Given the description of an element on the screen output the (x, y) to click on. 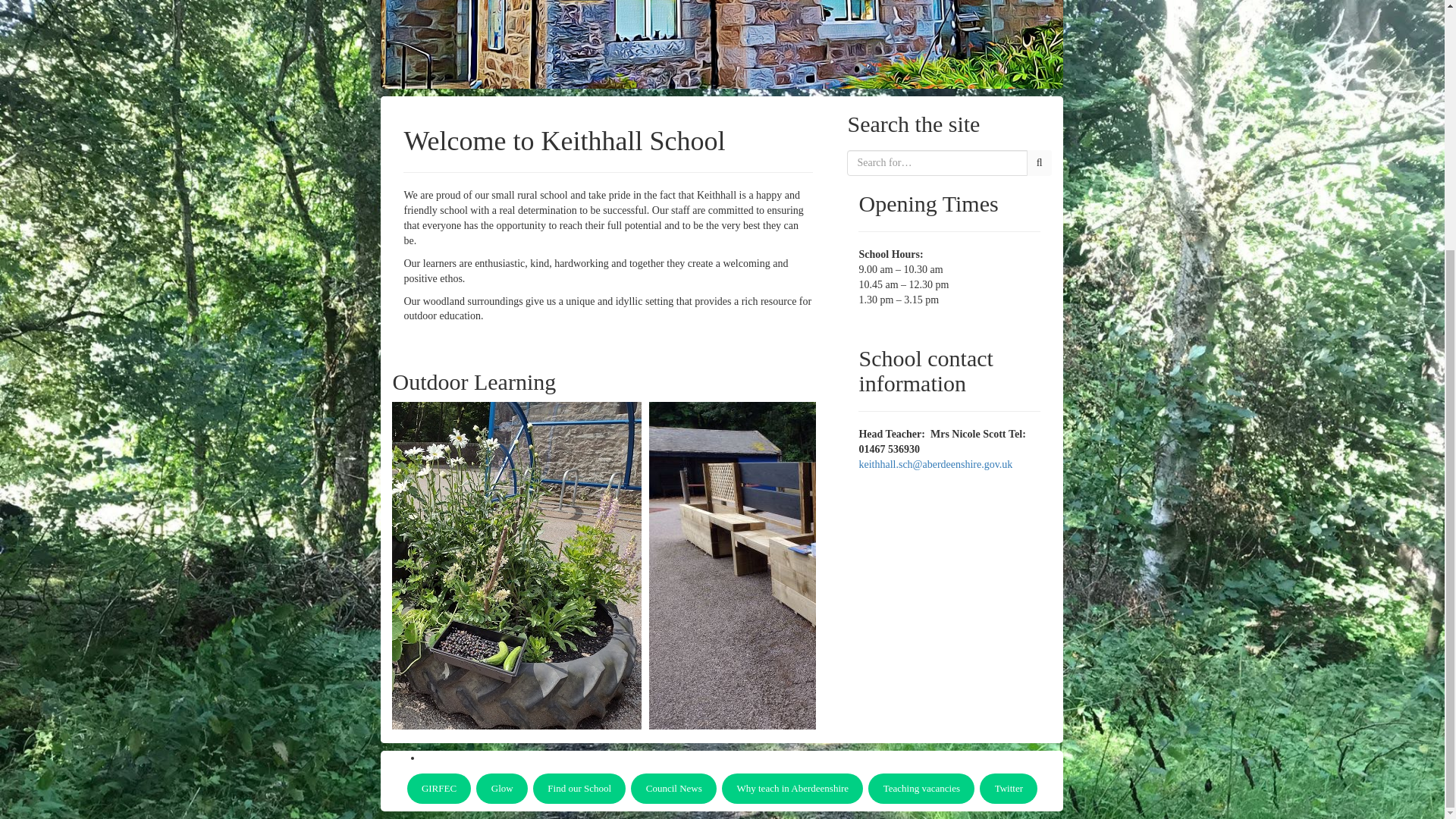
5 (427, 564)
